Given the description of an element on the screen output the (x, y) to click on. 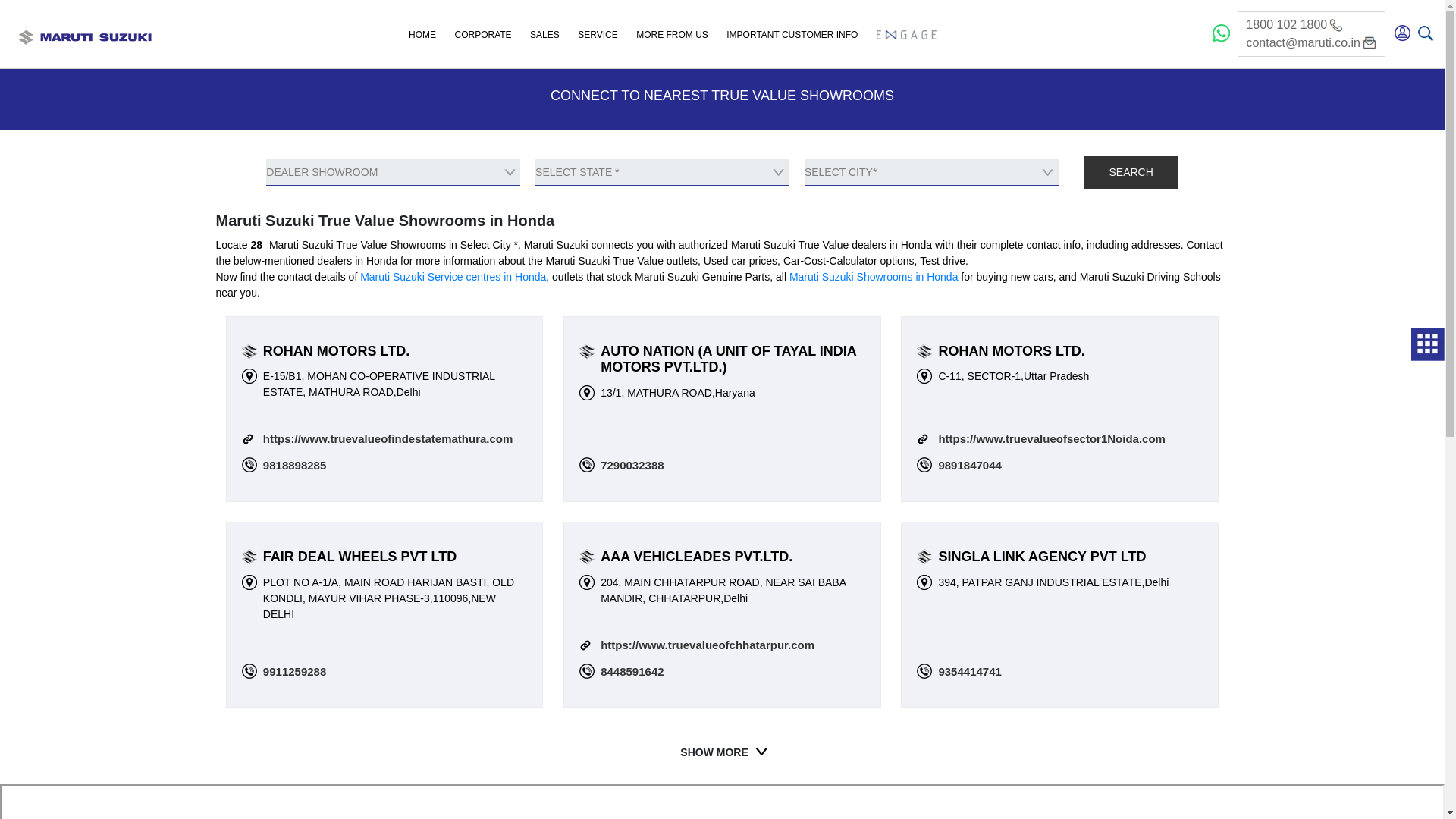
CORPORATE (482, 36)
HOME (422, 36)
